Given the description of an element on the screen output the (x, y) to click on. 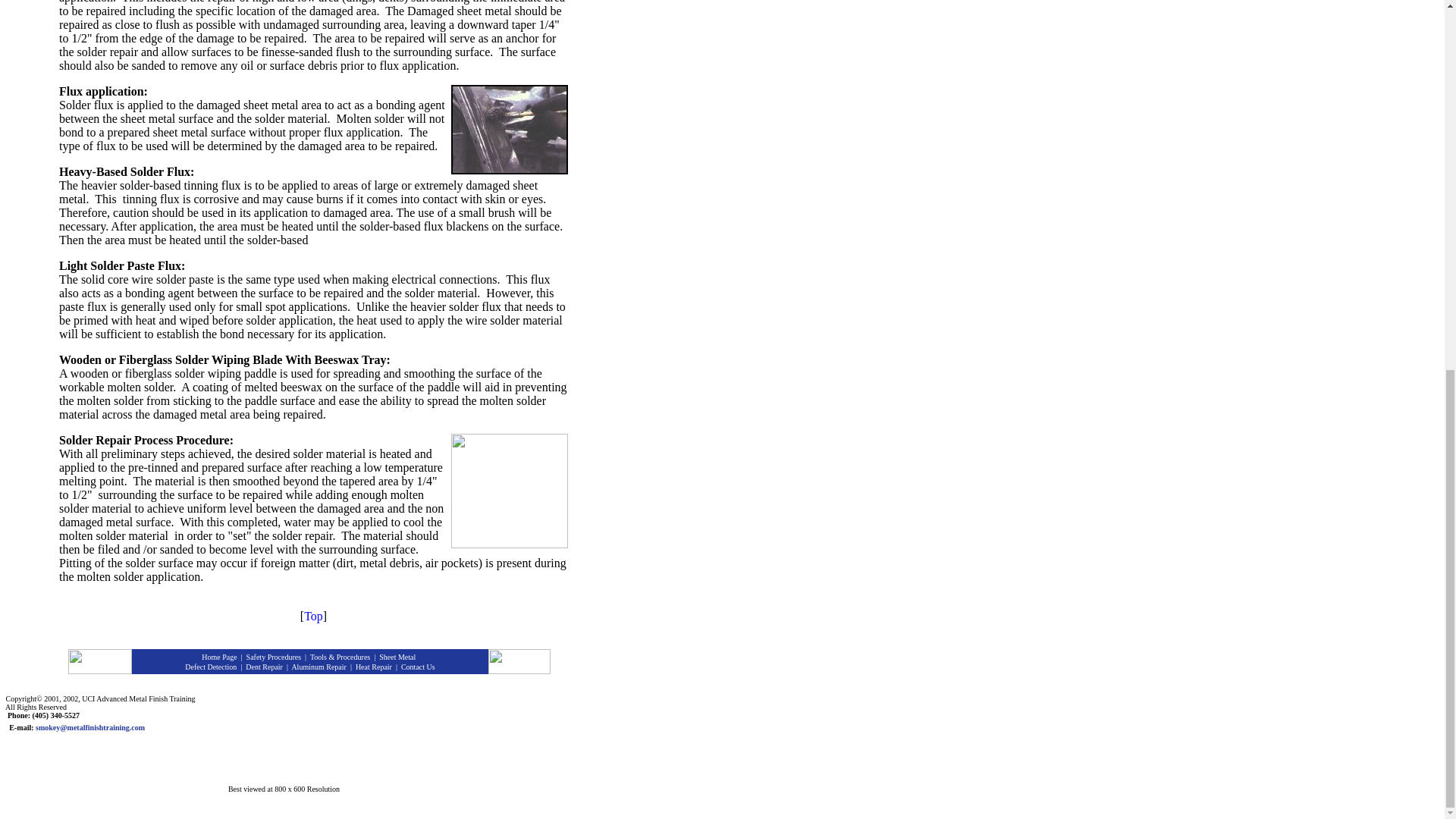
Heat Repair (373, 666)
Safety Procedures (273, 656)
Sheet Metal (396, 656)
Top (313, 615)
Contact Us (418, 666)
Defect Detection (209, 666)
Dent Repair (264, 666)
Home Page (218, 656)
Aluminum Repair (318, 666)
